Given the description of an element on the screen output the (x, y) to click on. 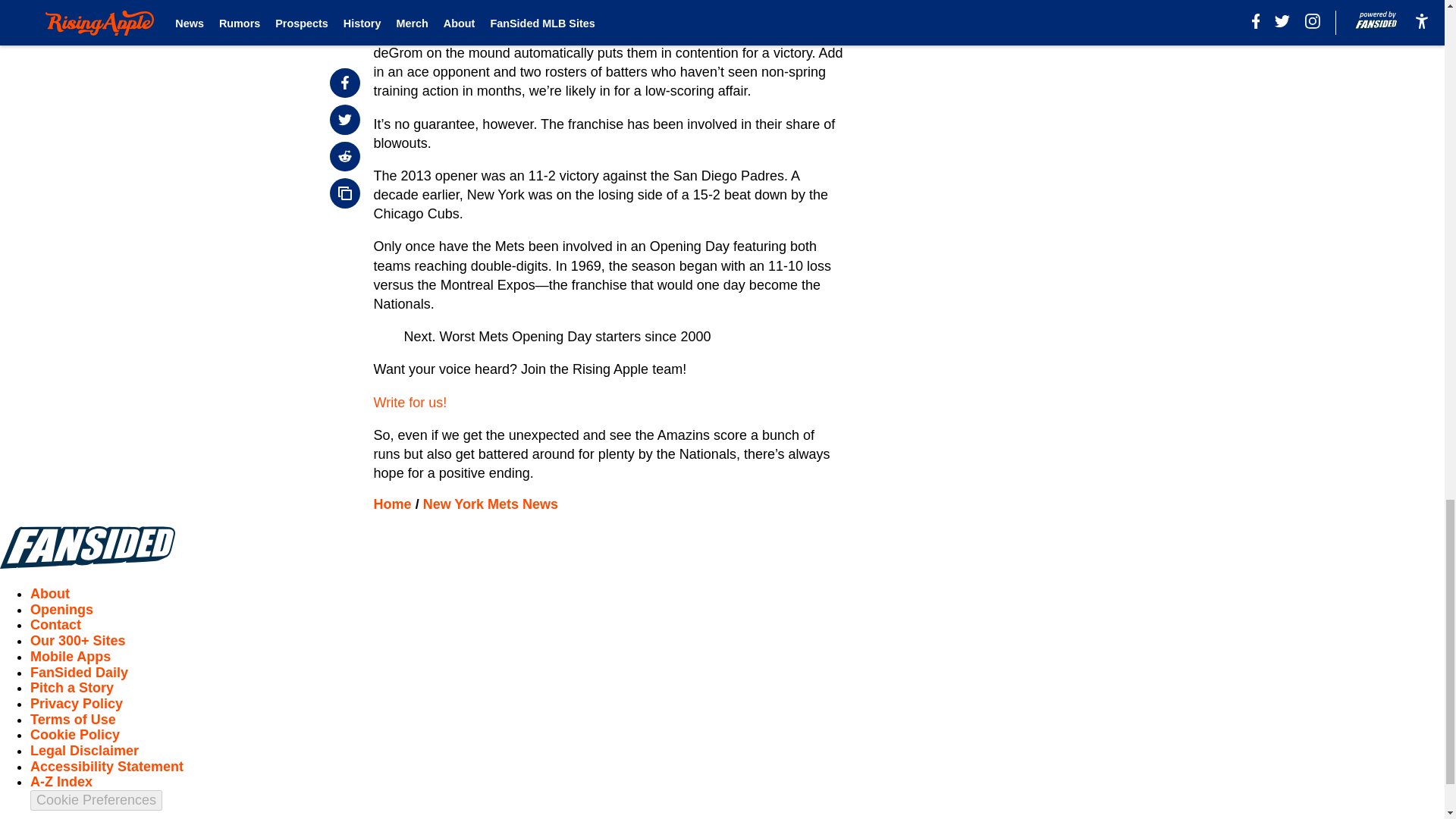
Home (393, 503)
New York Mets News (490, 503)
Contact (55, 624)
Write for us! (410, 402)
About (49, 593)
Openings (61, 609)
